Given the description of an element on the screen output the (x, y) to click on. 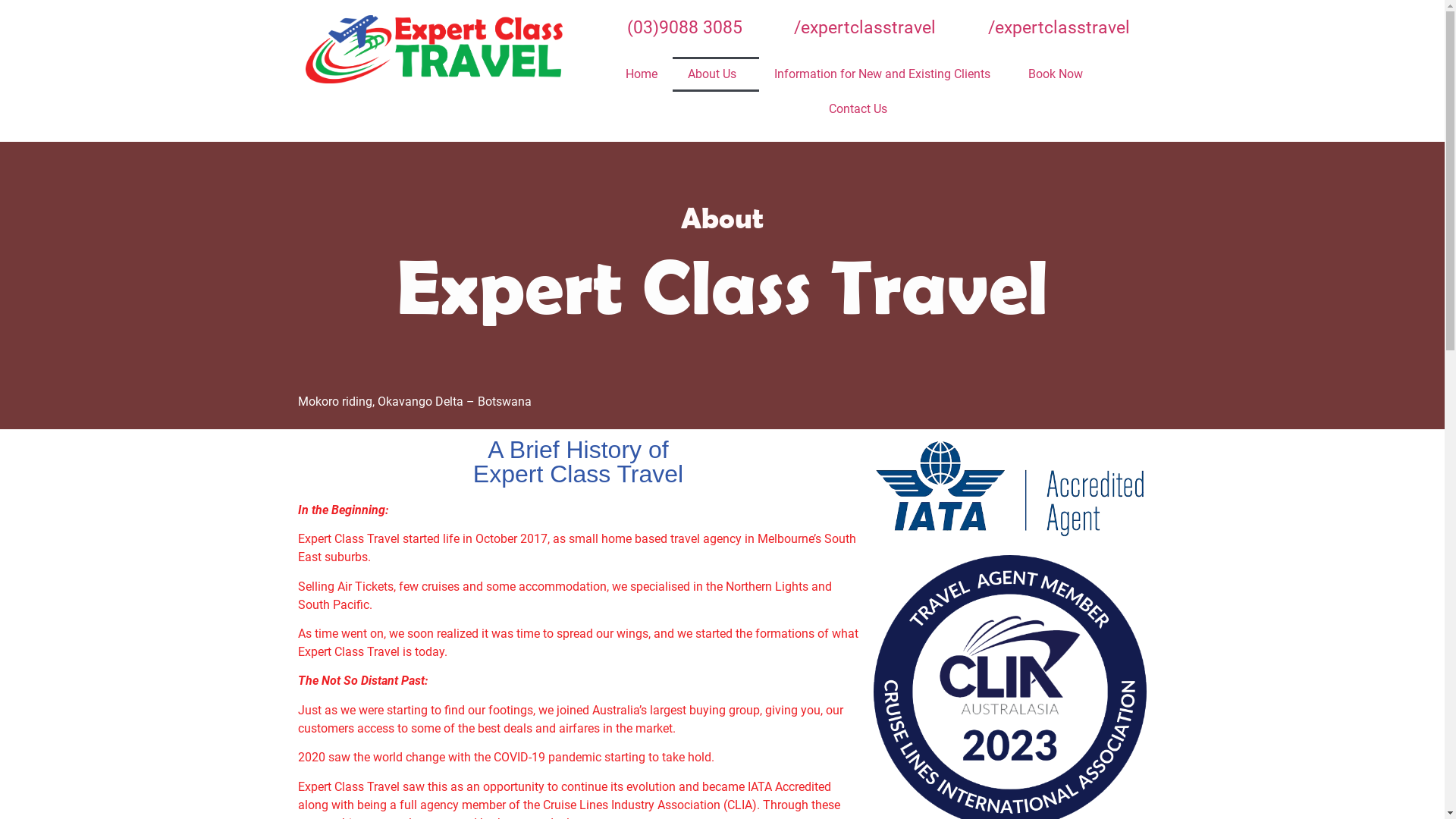
Contact Us Element type: text (857, 108)
(03)9088 3085 Element type: text (664, 28)
About Us Element type: text (715, 73)
Home Element type: text (641, 73)
/expertclasstravel Element type: text (845, 28)
/expertclasstravel Element type: text (1038, 28)
Book Now Element type: text (1059, 73)
Information for New and Existing Clients Element type: text (886, 73)
